Given the description of an element on the screen output the (x, y) to click on. 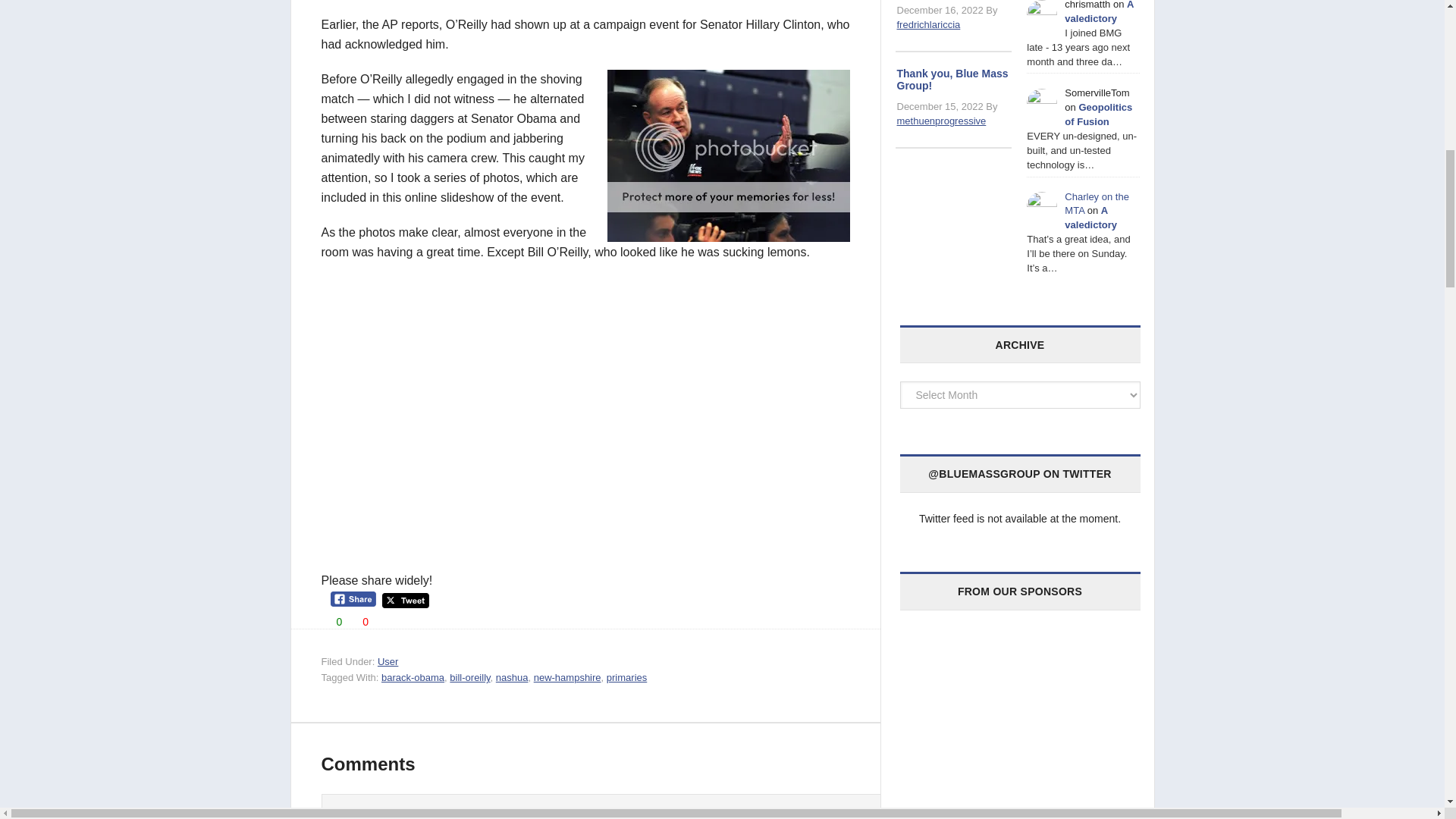
nashua (512, 677)
Tweet (405, 600)
barack-obama (412, 677)
Facebook Share (353, 599)
primaries (626, 677)
User (387, 661)
bill-oreilly (469, 677)
new-hampshire (567, 677)
